Given the description of an element on the screen output the (x, y) to click on. 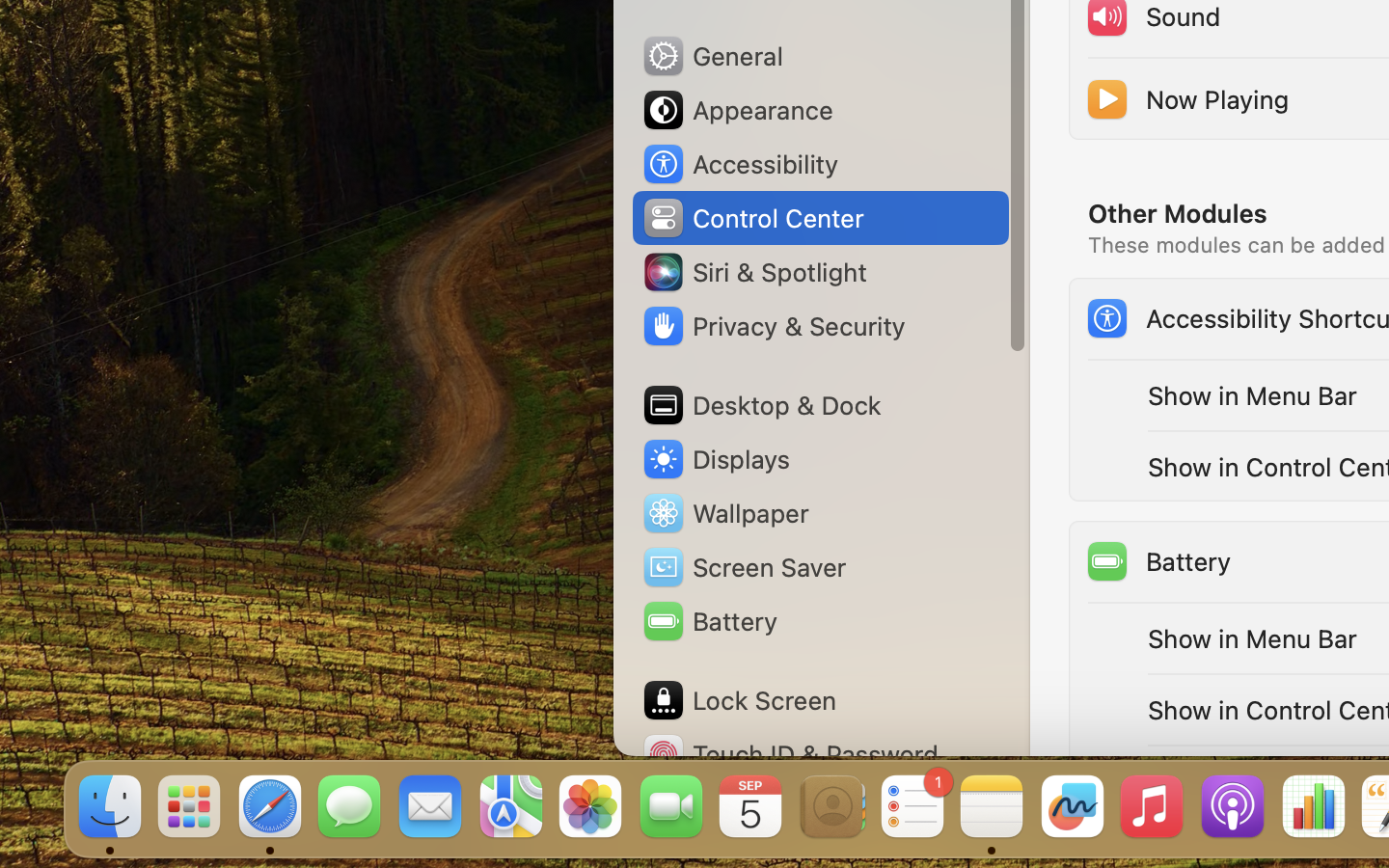
Displays Element type: AXStaticText (715, 458)
Battery Element type: AXStaticText (1157, 561)
Now Playing Element type: AXStaticText (1186, 98)
Lock Screen Element type: AXStaticText (738, 700)
Touch ID & Password Element type: AXStaticText (789, 754)
